Given the description of an element on the screen output the (x, y) to click on. 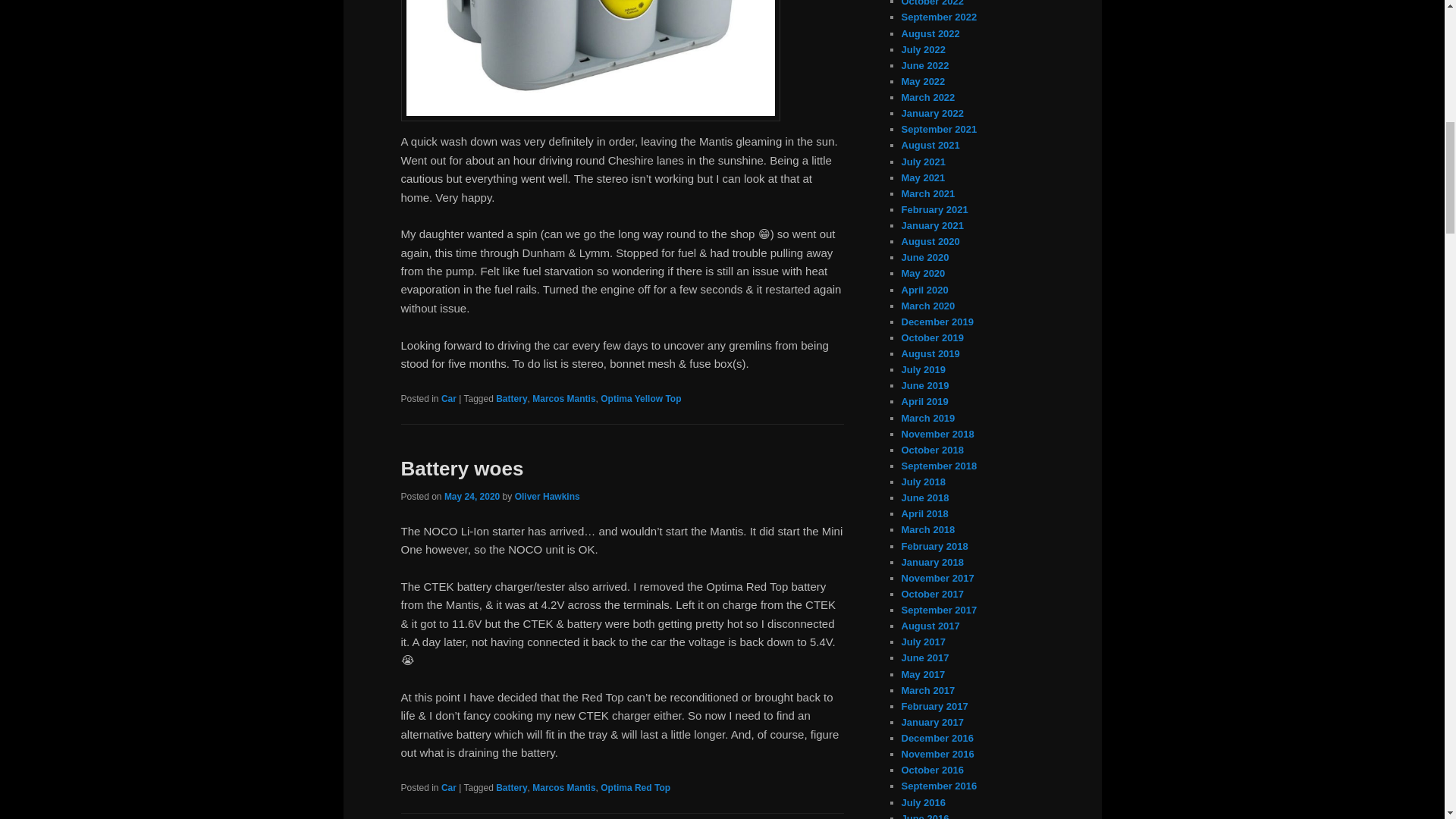
Battery woes (461, 468)
Battery (511, 398)
Car (449, 787)
Car (449, 398)
Marcos Mantis (563, 787)
May 24, 2020 (471, 496)
Optima Yellow Top (640, 398)
Optima Red Top (634, 787)
Battery (511, 787)
Marcos Mantis (563, 398)
Oliver Hawkins (547, 496)
